Given the description of an element on the screen output the (x, y) to click on. 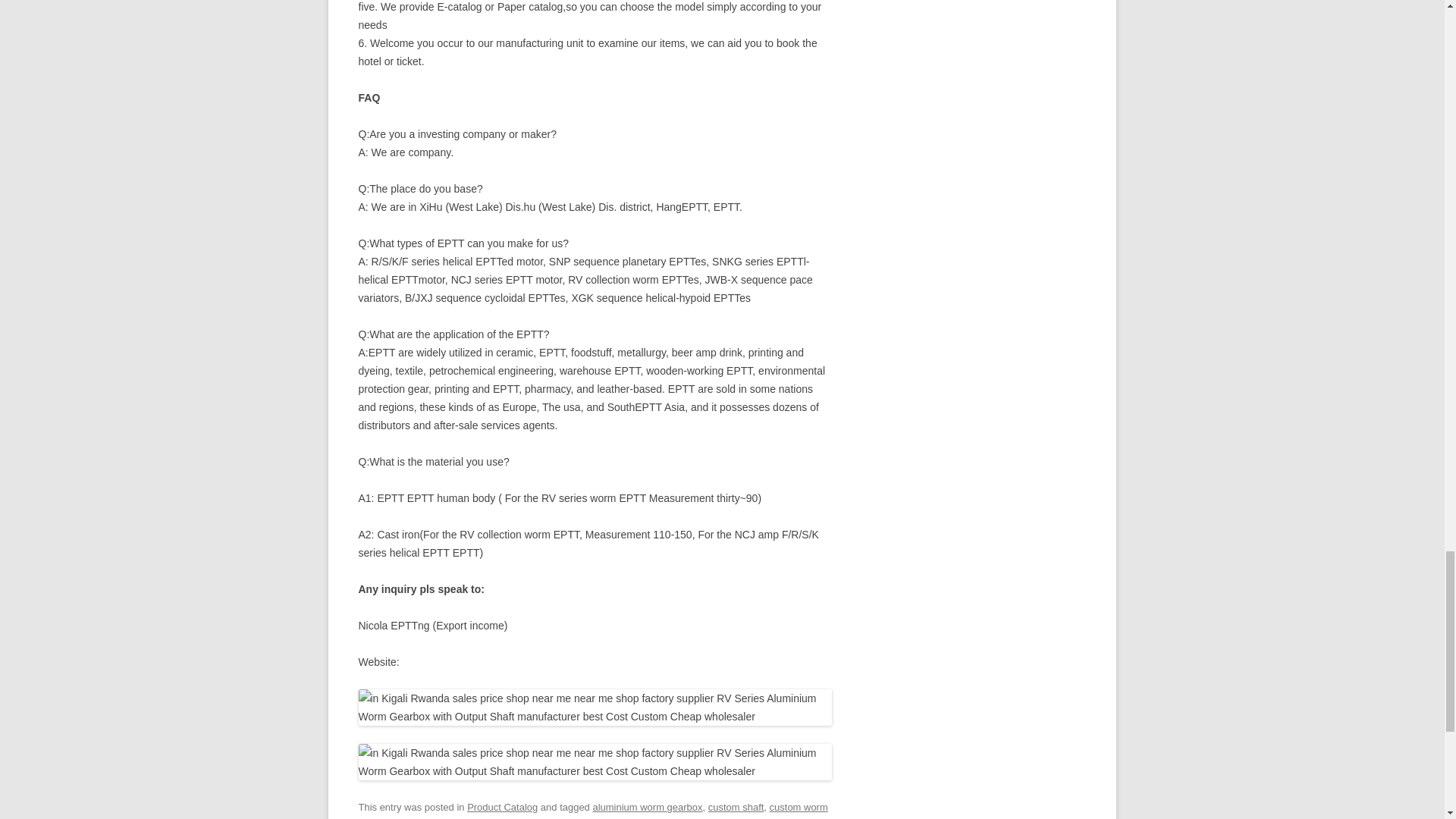
custom shaft (735, 807)
aluminium worm gearbox (646, 807)
Product Catalog (502, 807)
custom worm gearbox (592, 810)
